Given the description of an element on the screen output the (x, y) to click on. 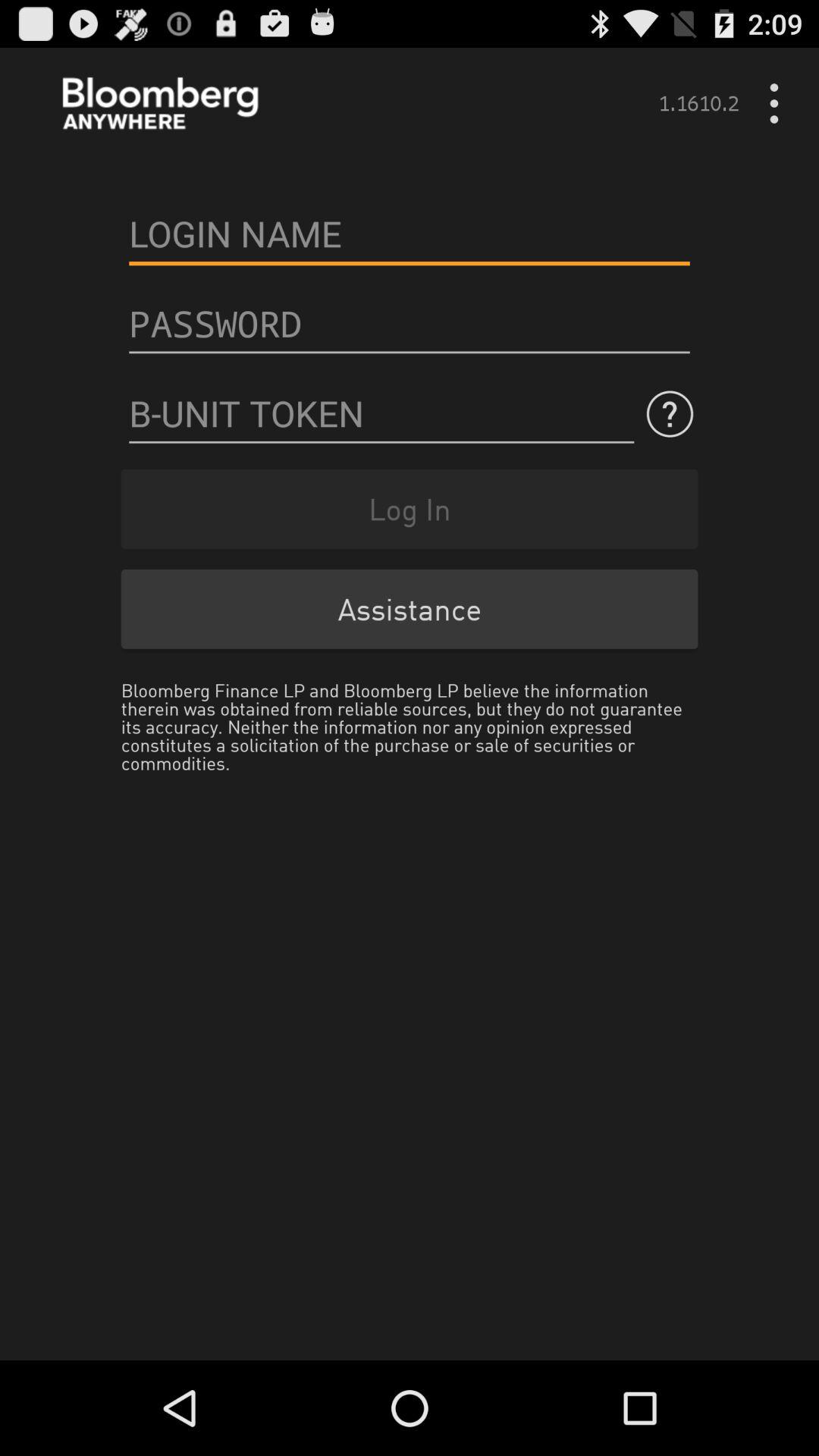
click assistance icon (409, 608)
